Given the description of an element on the screen output the (x, y) to click on. 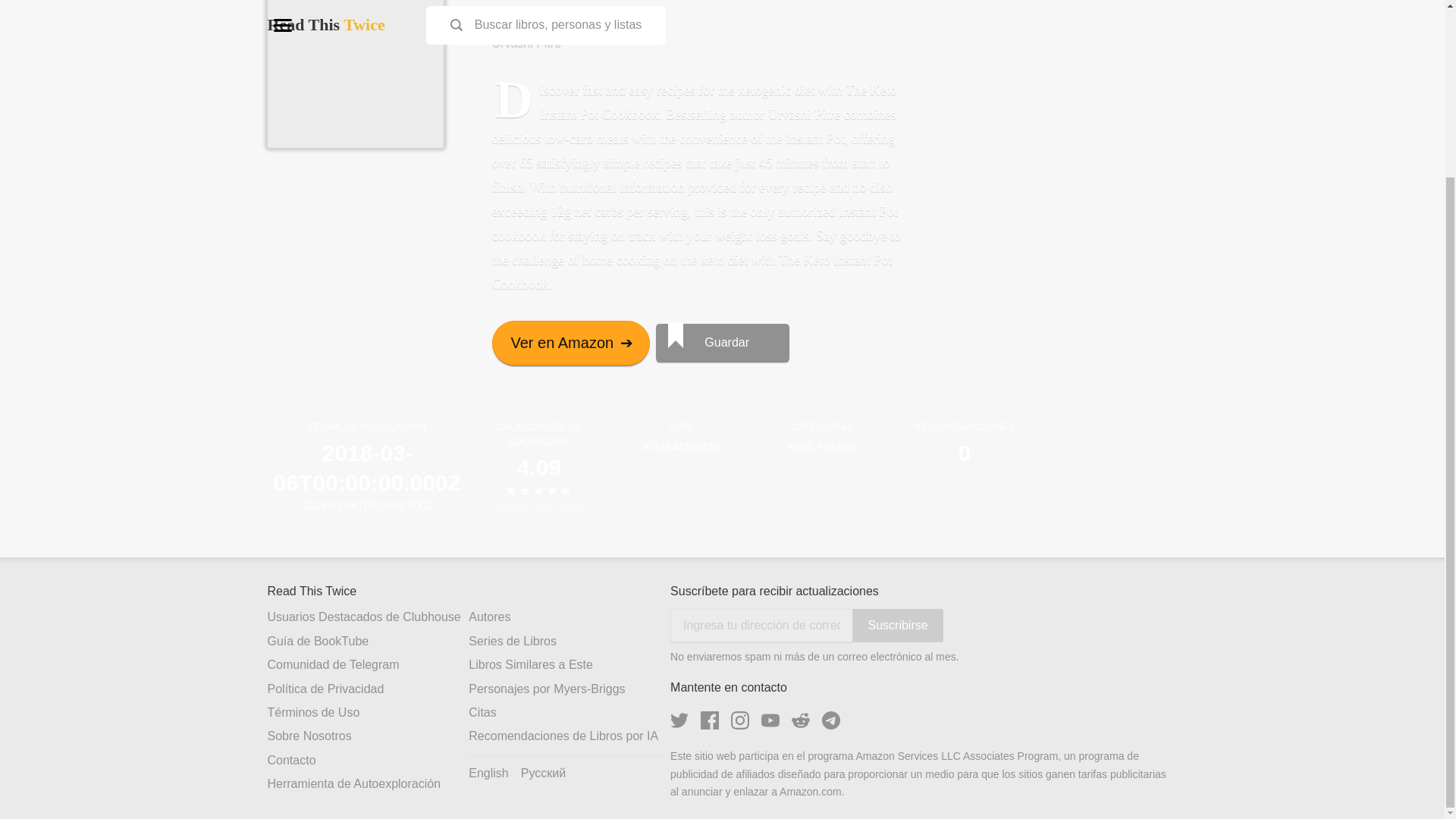
based on 370 ratings (538, 507)
Contacto (367, 761)
Series de Libros (568, 641)
Food (799, 446)
Usuarios Destacados de Clubhouse (367, 617)
Goodreads reviews (538, 507)
Citas (568, 712)
English (488, 773)
Sobre Nosotros (367, 736)
Hobbies (837, 446)
